Given the description of an element on the screen output the (x, y) to click on. 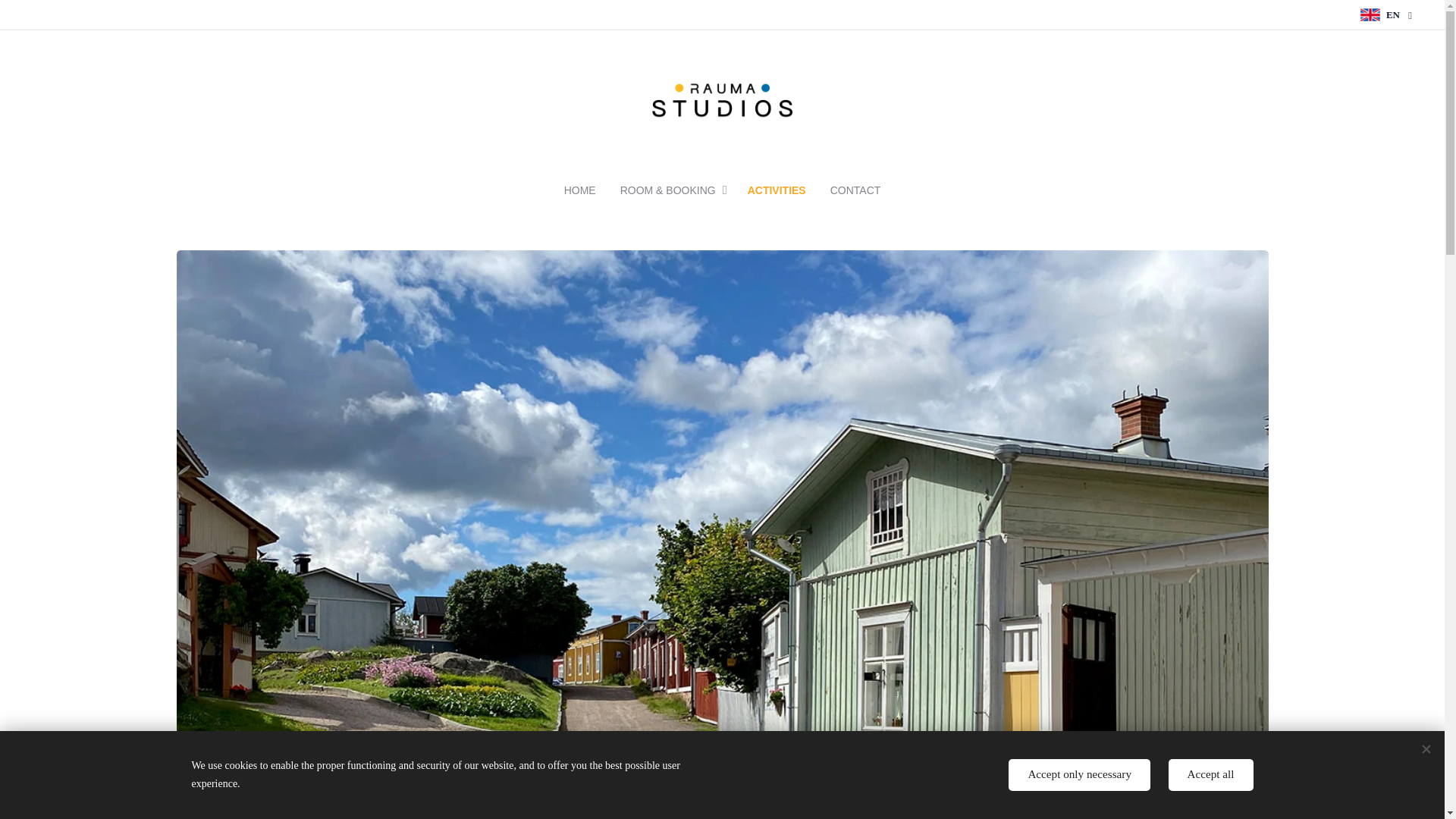
HOME (586, 190)
ACTIVITIES (776, 190)
CONTACT (849, 190)
Accept only necessary (1079, 774)
Accept all (1211, 774)
